Given the description of an element on the screen output the (x, y) to click on. 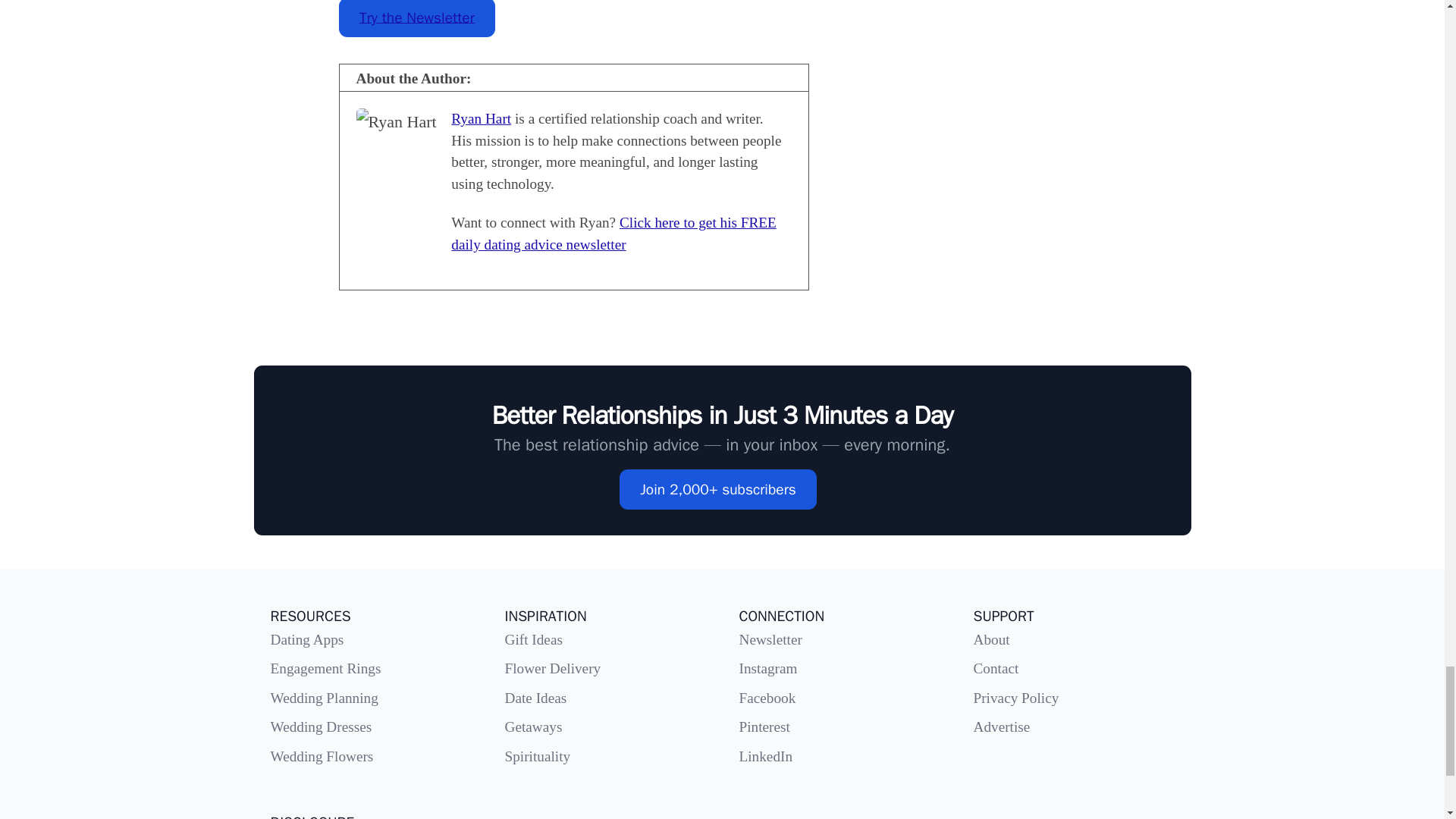
Pinterest (763, 726)
Wedding Flowers (320, 756)
Click here to get his FREE daily dating advice newsletter (613, 233)
Instagram (767, 668)
Wedding Planning (323, 697)
Newsletter (770, 639)
Contact (996, 668)
Getaways (533, 726)
Ryan Hart (481, 118)
Wedding Dresses (320, 726)
